Given the description of an element on the screen output the (x, y) to click on. 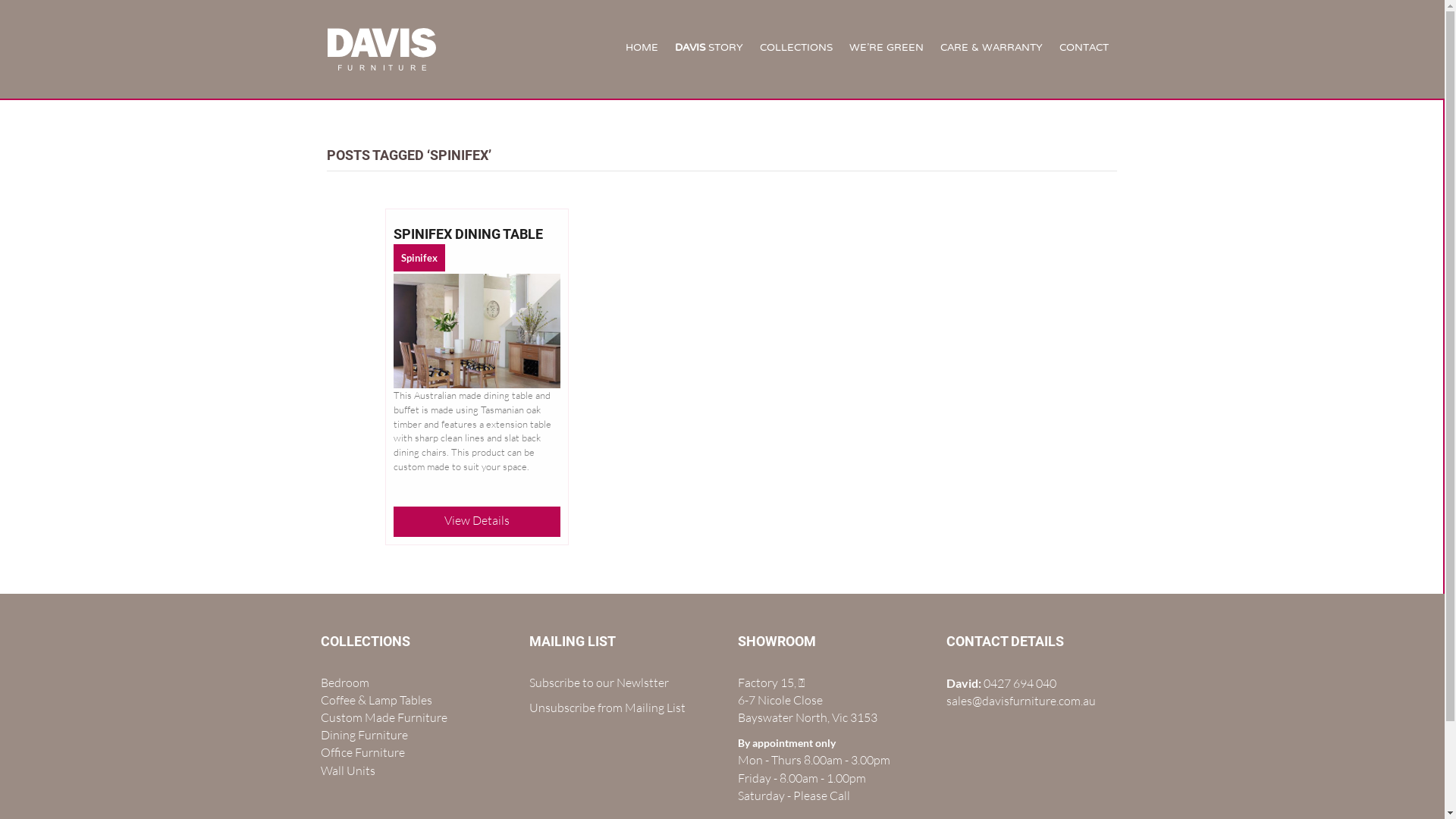
Dining Furniture Element type: text (363, 734)
HOME Element type: text (641, 48)
Office Furniture Element type: text (362, 751)
Coffee & Lamp Tables Element type: text (375, 699)
Spinifex Element type: text (419, 257)
Bedroom Element type: text (344, 682)
sales@davisfurniture.com.au Element type: text (1020, 700)
View Details Element type: text (476, 519)
CONTACT Element type: text (1084, 48)
Unsubscribe from Mailing List Element type: text (607, 707)
DAVIS STORY Element type: text (708, 48)
CARE & WARRANTY Element type: text (991, 48)
Subscribe to our Newlstter Element type: text (598, 682)
SPINIFEX DINING TABLE Element type: text (467, 233)
0427 694 040 Element type: text (1018, 682)
Wall Units Element type: text (347, 770)
COLLECTIONS Element type: text (795, 48)
Custom Made Furniture Element type: text (383, 716)
